Given the description of an element on the screen output the (x, y) to click on. 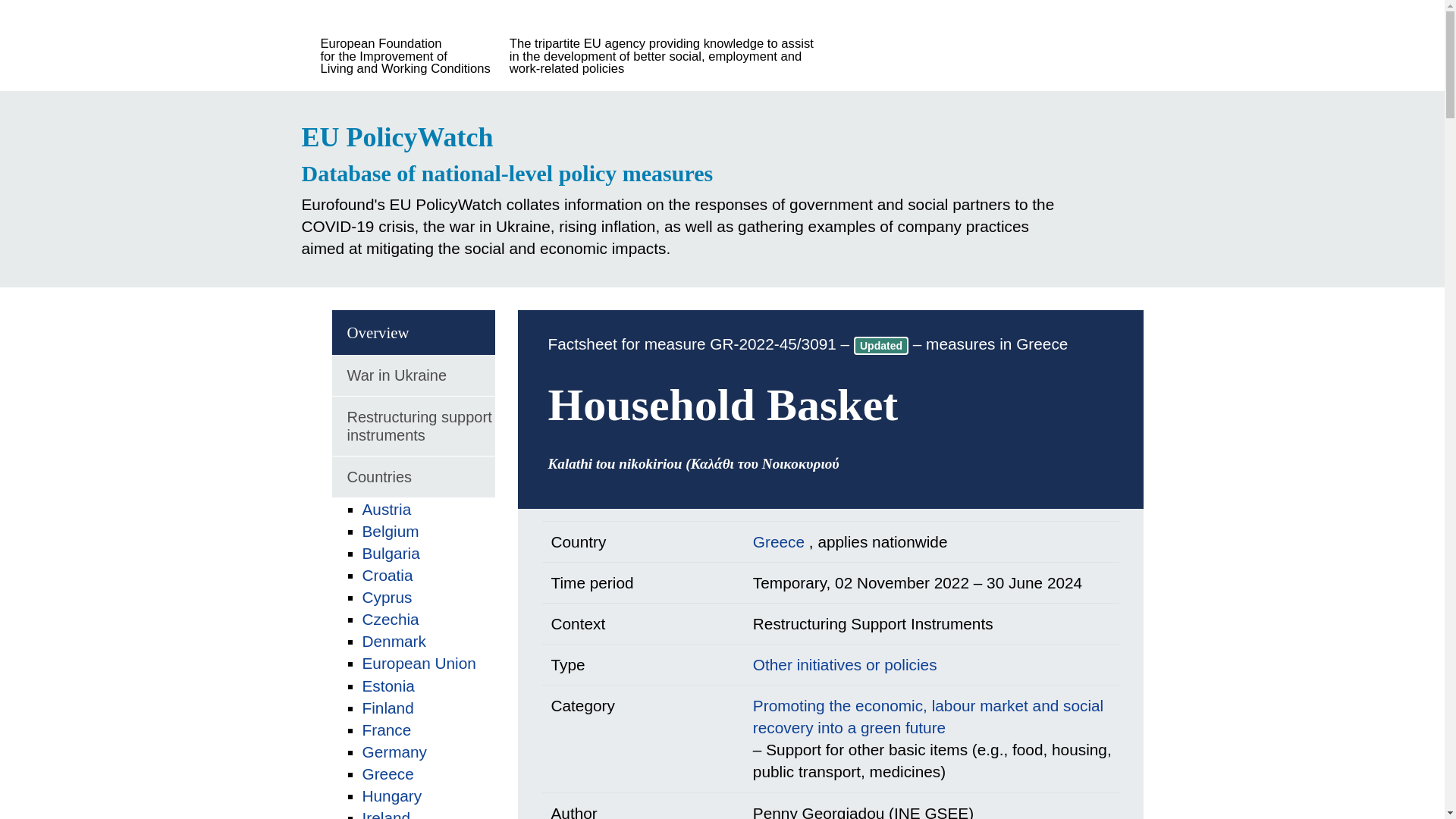
View all cases in this category (927, 716)
Cyprus (387, 597)
View all cases of this type (844, 664)
Hungary (392, 795)
France (387, 729)
View all cases in this country (780, 541)
Germany (395, 751)
Croatia (387, 574)
Restructuring support instruments (413, 426)
Bulgaria (391, 552)
